Given the description of an element on the screen output the (x, y) to click on. 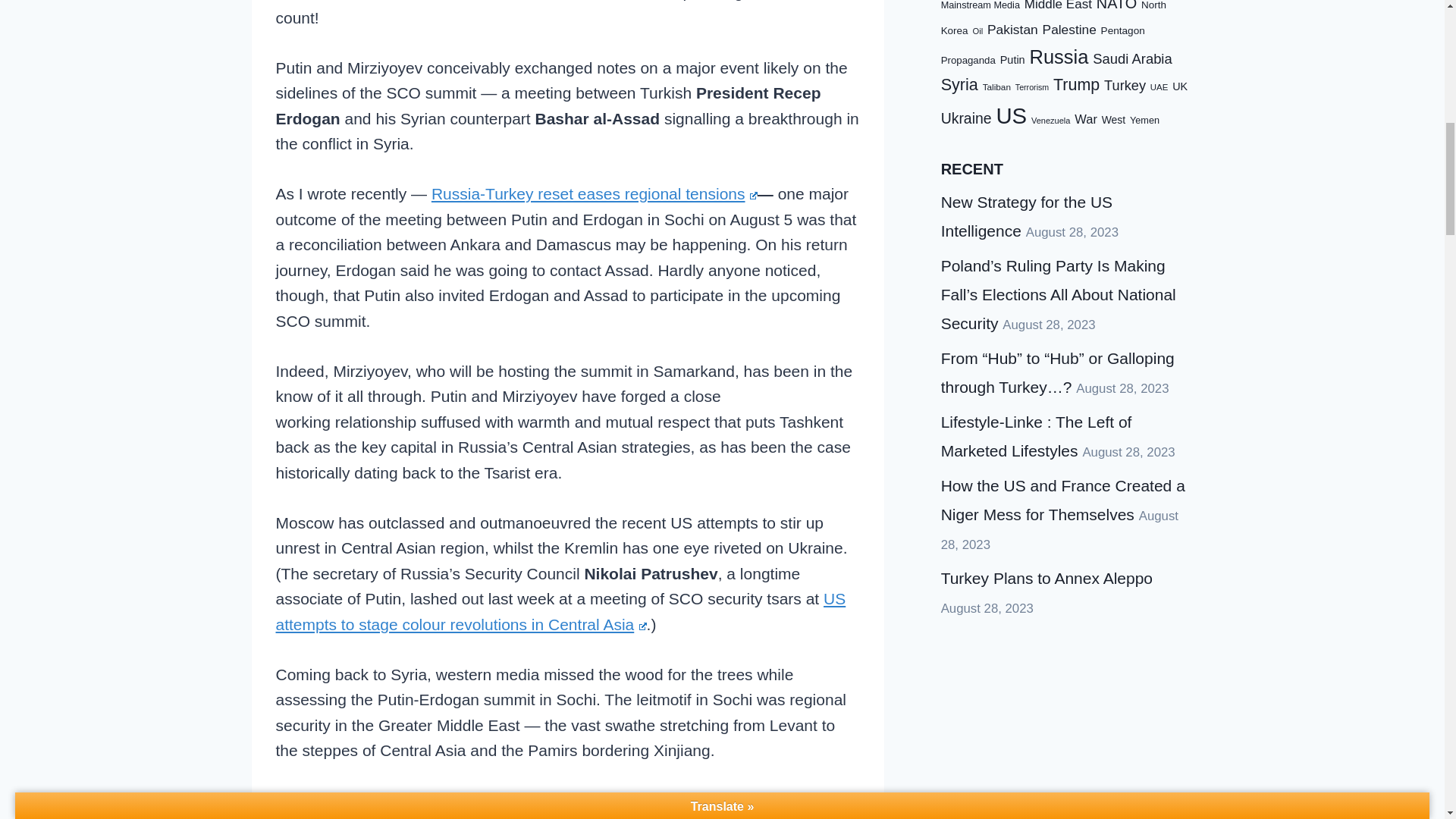
US attempts to stage colour revolutions in Central Asia (560, 611)
Russia-Turkey reset eases regional tensions (593, 193)
Guardian came tantalisingly close (432, 800)
